Given the description of an element on the screen output the (x, y) to click on. 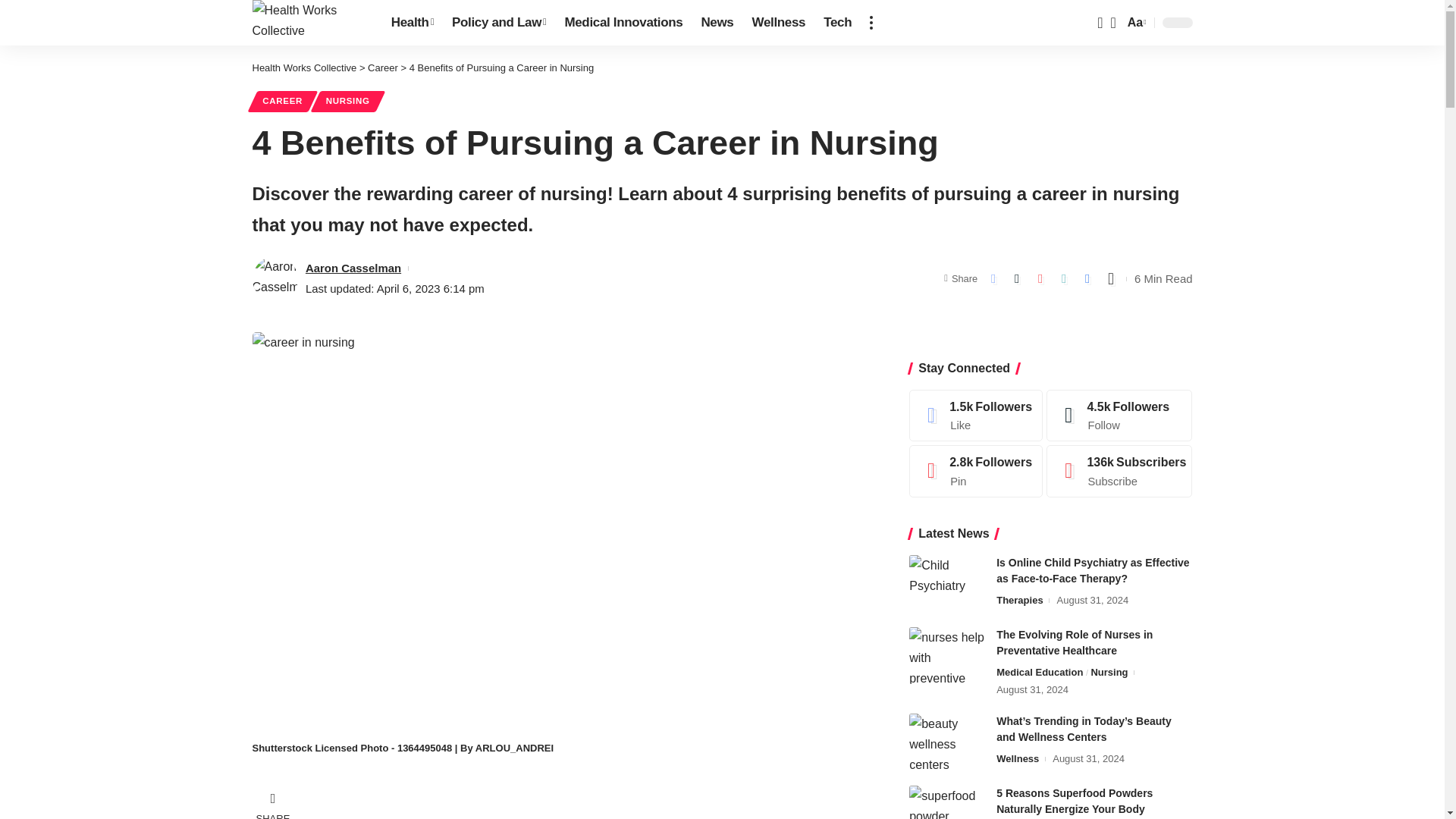
Medical Innovations (622, 22)
Go to Health Works Collective. (303, 67)
5 Reasons Superfood Powders Naturally Energize Your Body (946, 802)
The Evolving Role of Nurses in Preventative Healthcare (946, 655)
Tech (836, 22)
Health (411, 22)
Policy and Law (498, 22)
Health Works Collective (308, 22)
Go to the Career Category archives. (382, 67)
Wellness (778, 22)
